Given the description of an element on the screen output the (x, y) to click on. 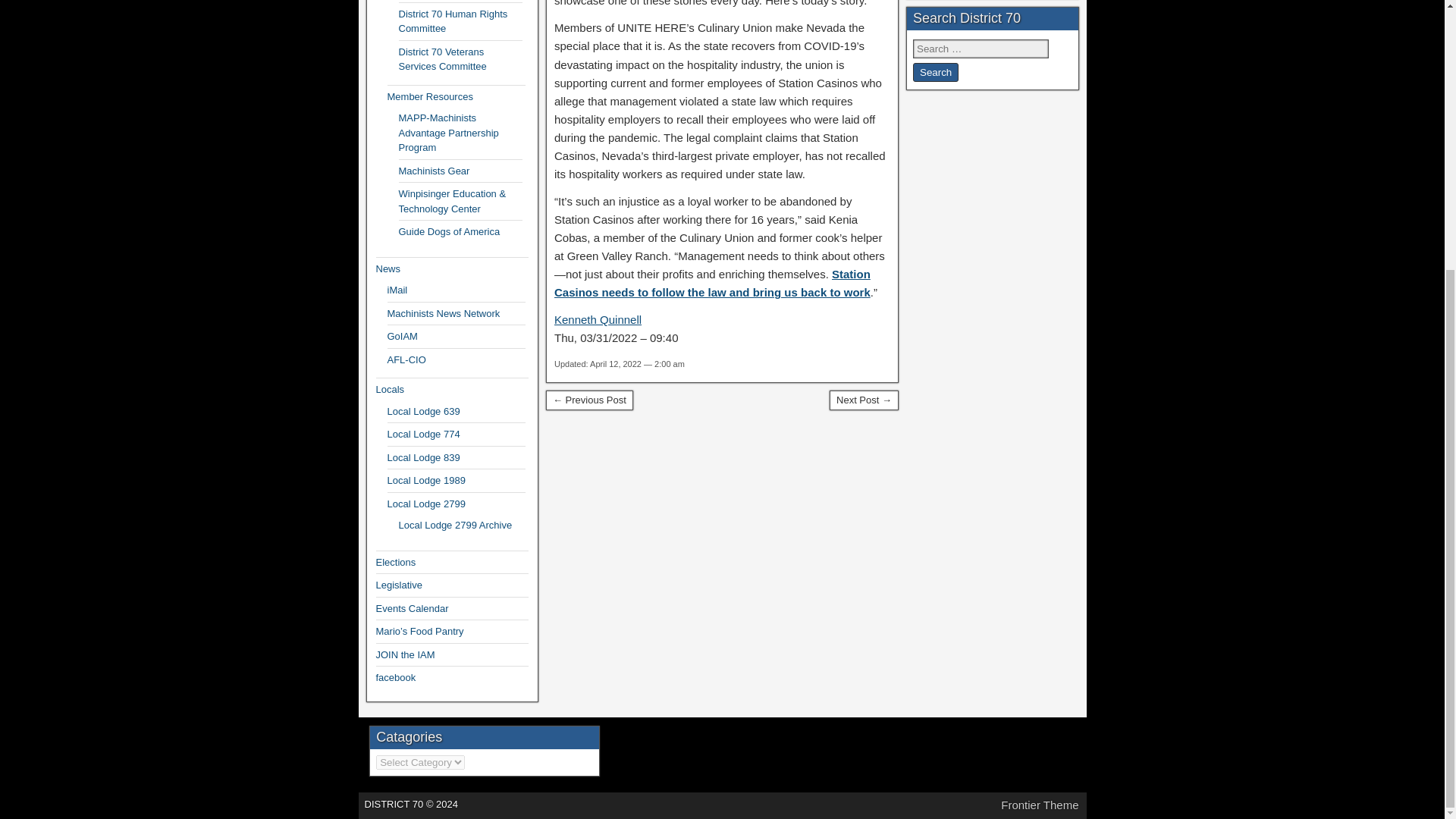
Kenneth Quinnell (598, 318)
Search (935, 72)
Search (935, 72)
March 31st is Transgender Day of Visibility (589, 400)
View user profile. (598, 318)
IAM Women in Leadership: Tania Canniff (863, 400)
